Given the description of an element on the screen output the (x, y) to click on. 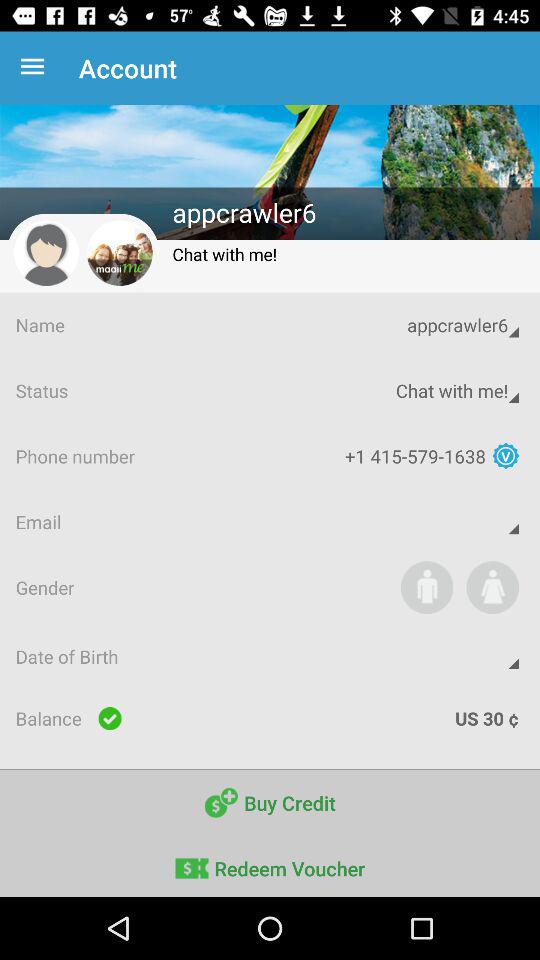
to join the vebsite (426, 587)
